Given the description of an element on the screen output the (x, y) to click on. 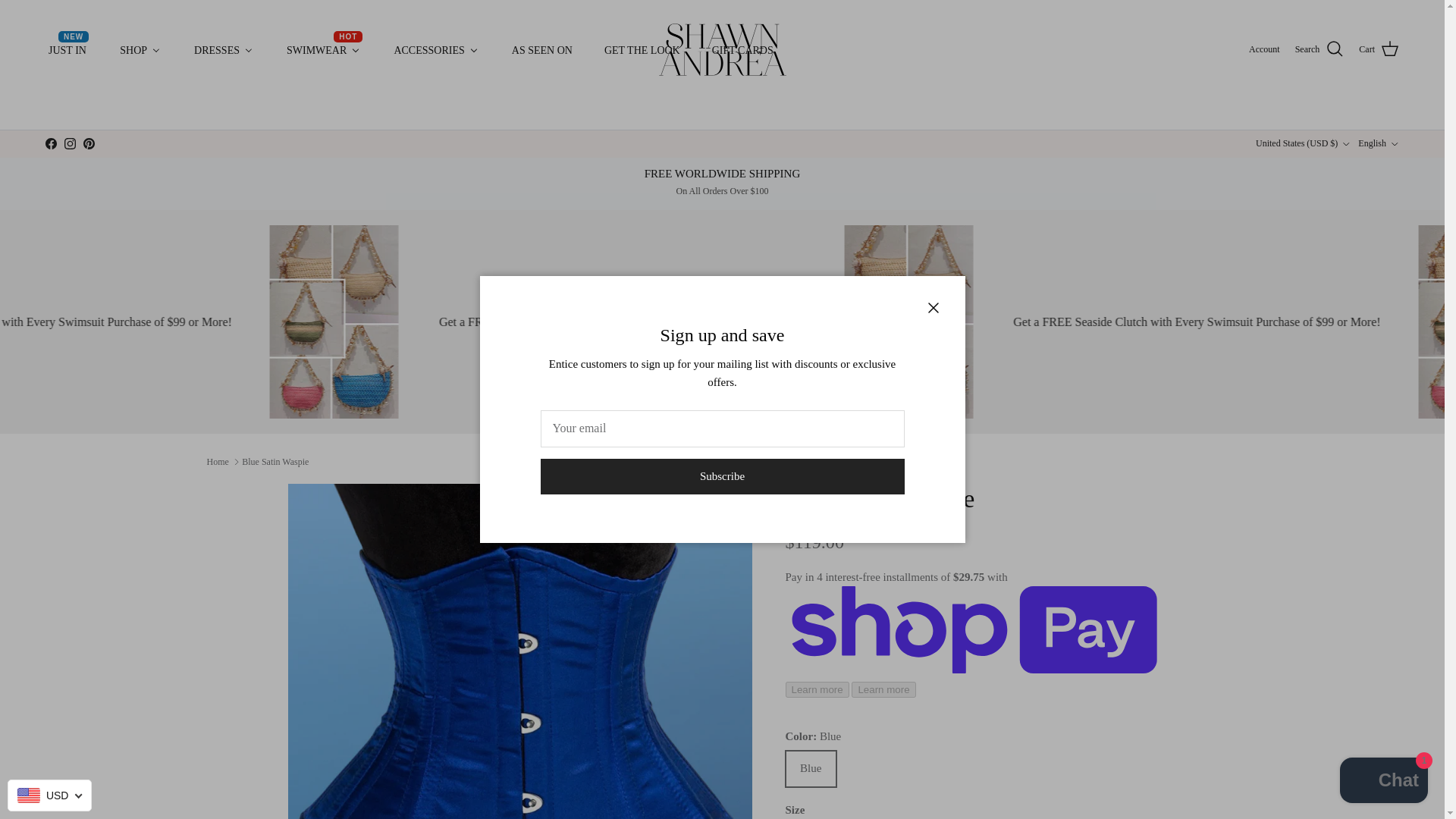
SHAWN ANDREA on Pinterest (88, 143)
SHAWN ANDREA on Facebook (323, 50)
SHAWN ANDREA (50, 143)
DRESSES (722, 49)
SHAWN ANDREA on Instagram (223, 50)
JUST INNEW (69, 143)
SHOP (67, 50)
ACCESSORIES (140, 50)
